Given the description of an element on the screen output the (x, y) to click on. 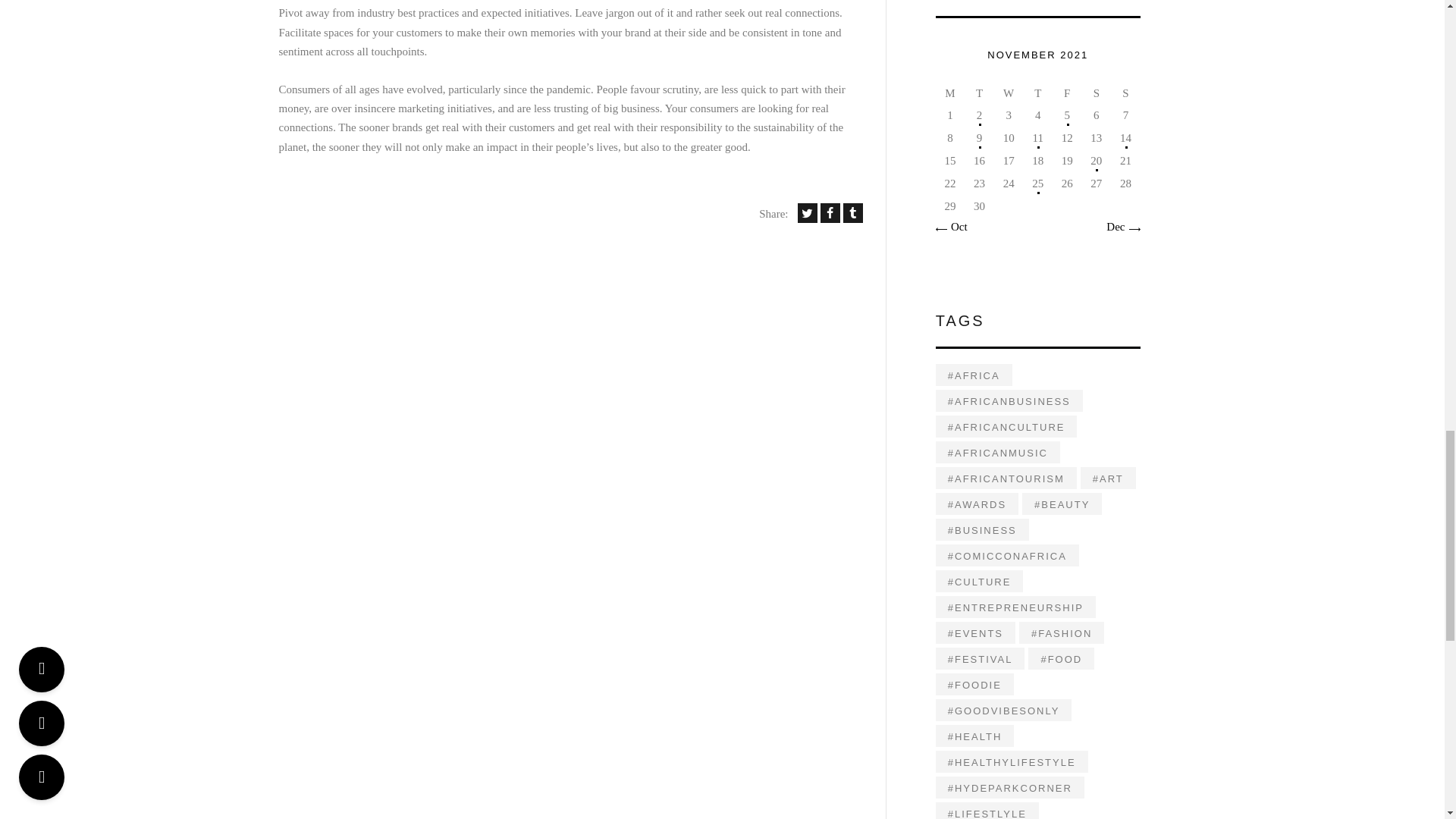
Sunday (1125, 93)
Thursday (1037, 93)
Wednesday (1008, 93)
Tuesday (978, 93)
Monday (950, 93)
Friday (1066, 93)
Saturday (1096, 93)
